Given the description of an element on the screen output the (x, y) to click on. 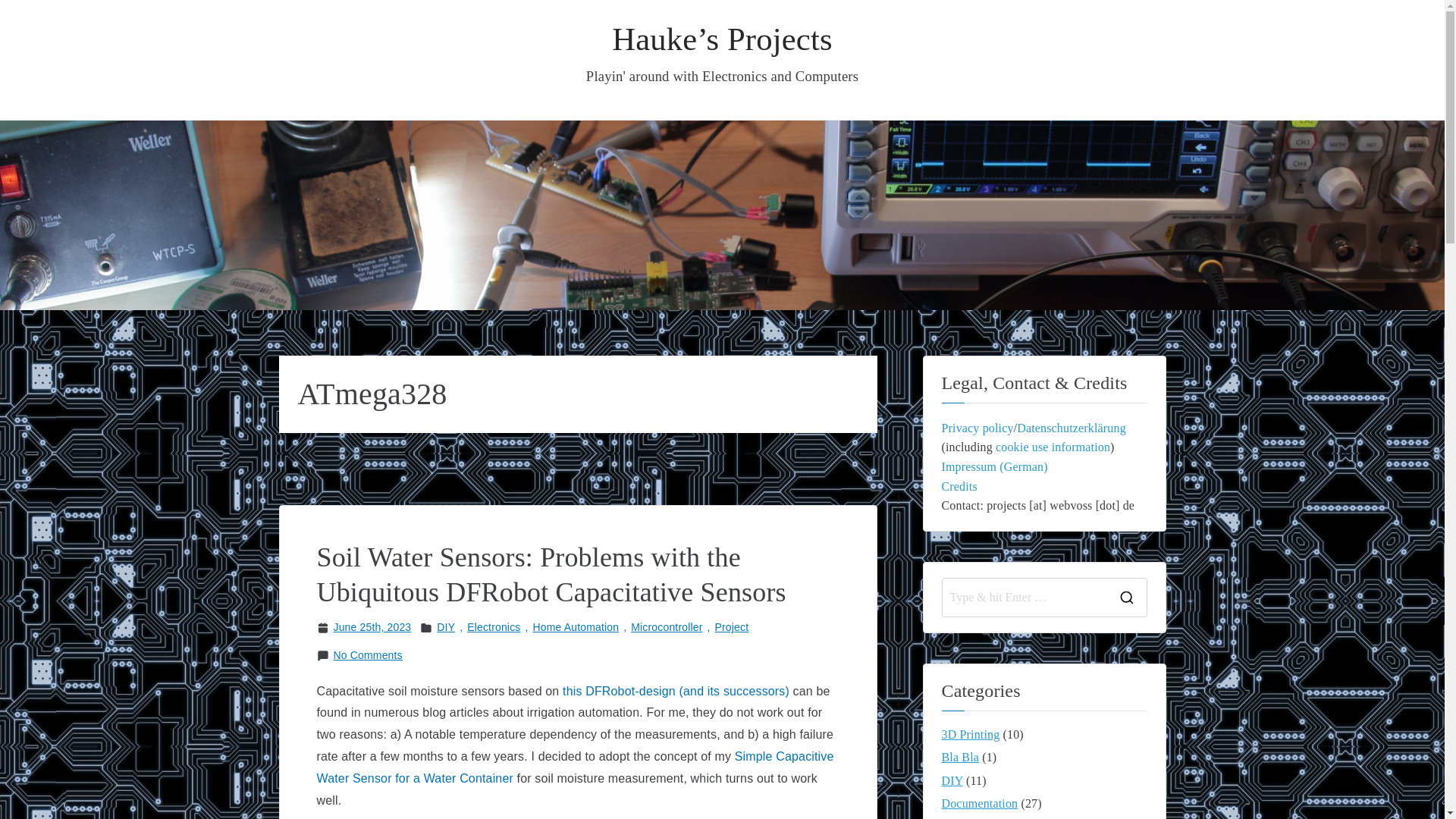
Home Automation (576, 627)
Project (731, 627)
Electronics (493, 627)
Search for: (1024, 597)
June 25th, 2023 (372, 627)
DIY (445, 627)
Microcontroller (665, 627)
Simple Capacitive Water Sensor for a Water Container (575, 767)
